Given the description of an element on the screen output the (x, y) to click on. 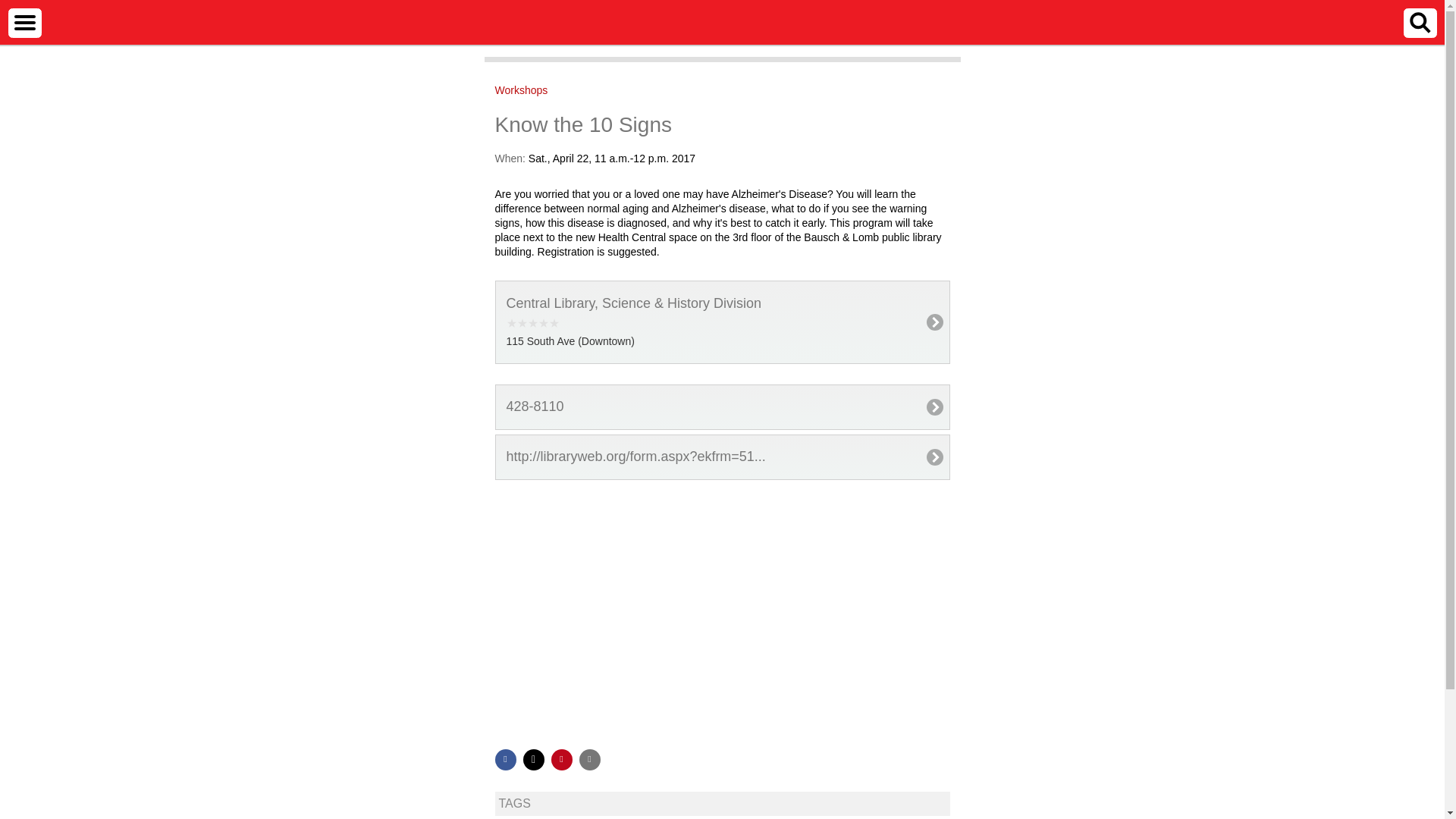
428-8110 (722, 406)
Workshops (521, 90)
MENU (23, 22)
SEARCH (1419, 22)
